Given the description of an element on the screen output the (x, y) to click on. 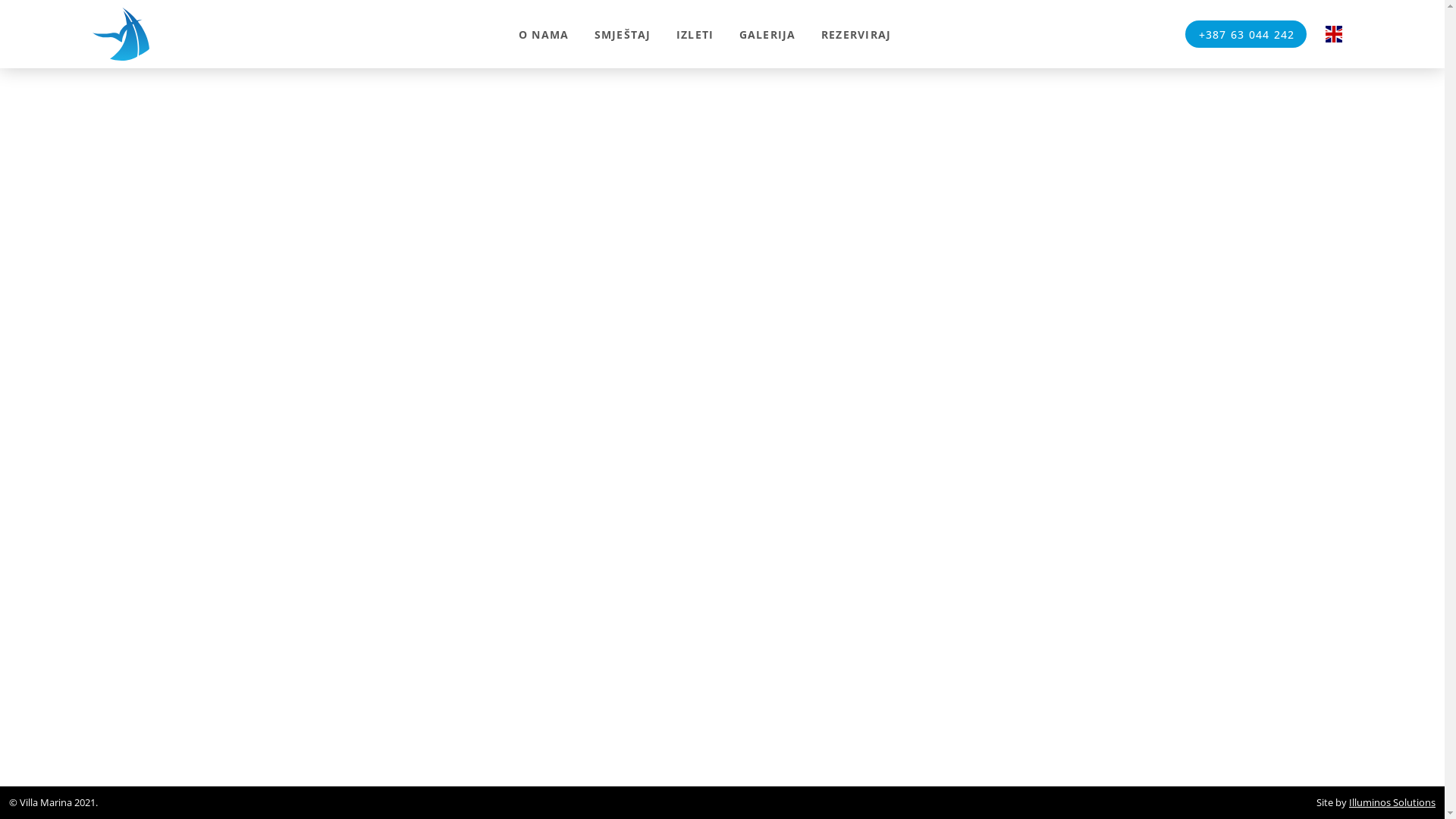
IZLETI Element type: text (694, 34)
+387 63 044 242 Element type: text (1245, 33)
Illuminos Solutions Element type: text (1392, 801)
GALERIJA Element type: text (766, 34)
gb Element type: hover (1333, 33)
REZERVIRAJ Element type: text (855, 34)
O NAMA Element type: text (543, 34)
